Given the description of an element on the screen output the (x, y) to click on. 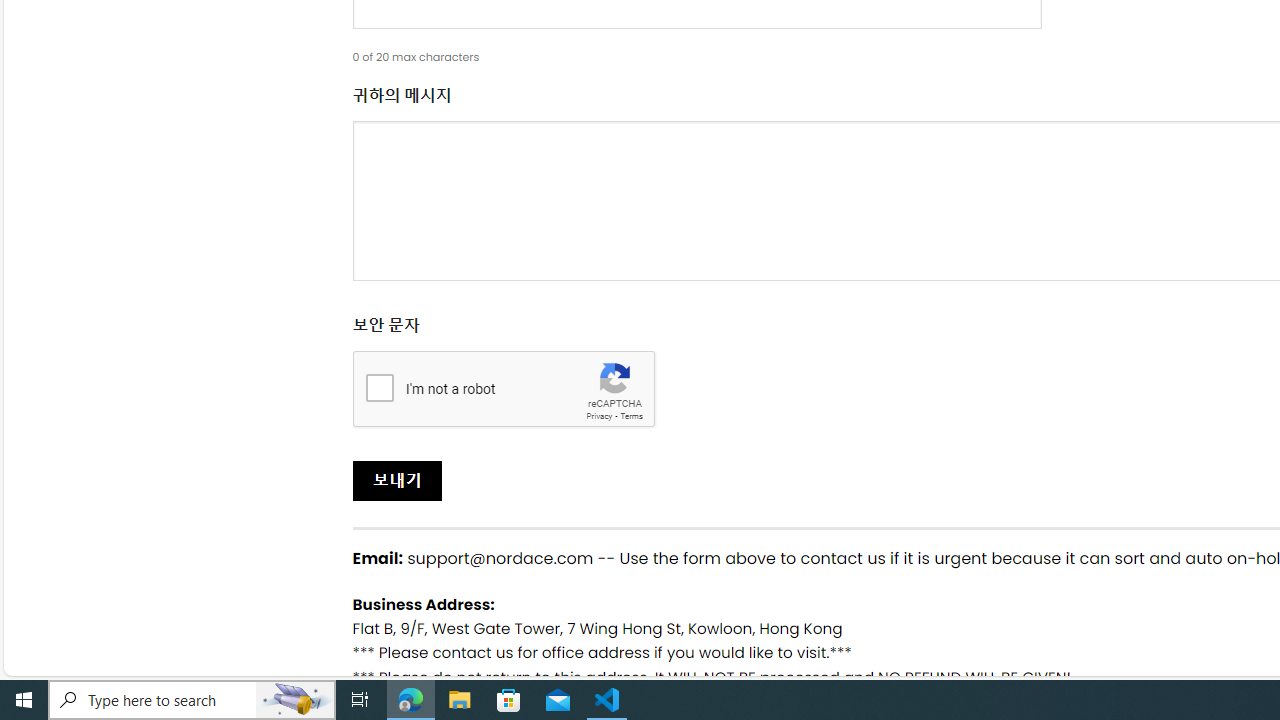
I'm not a robot (379, 386)
Terms (631, 416)
